Given the description of an element on the screen output the (x, y) to click on. 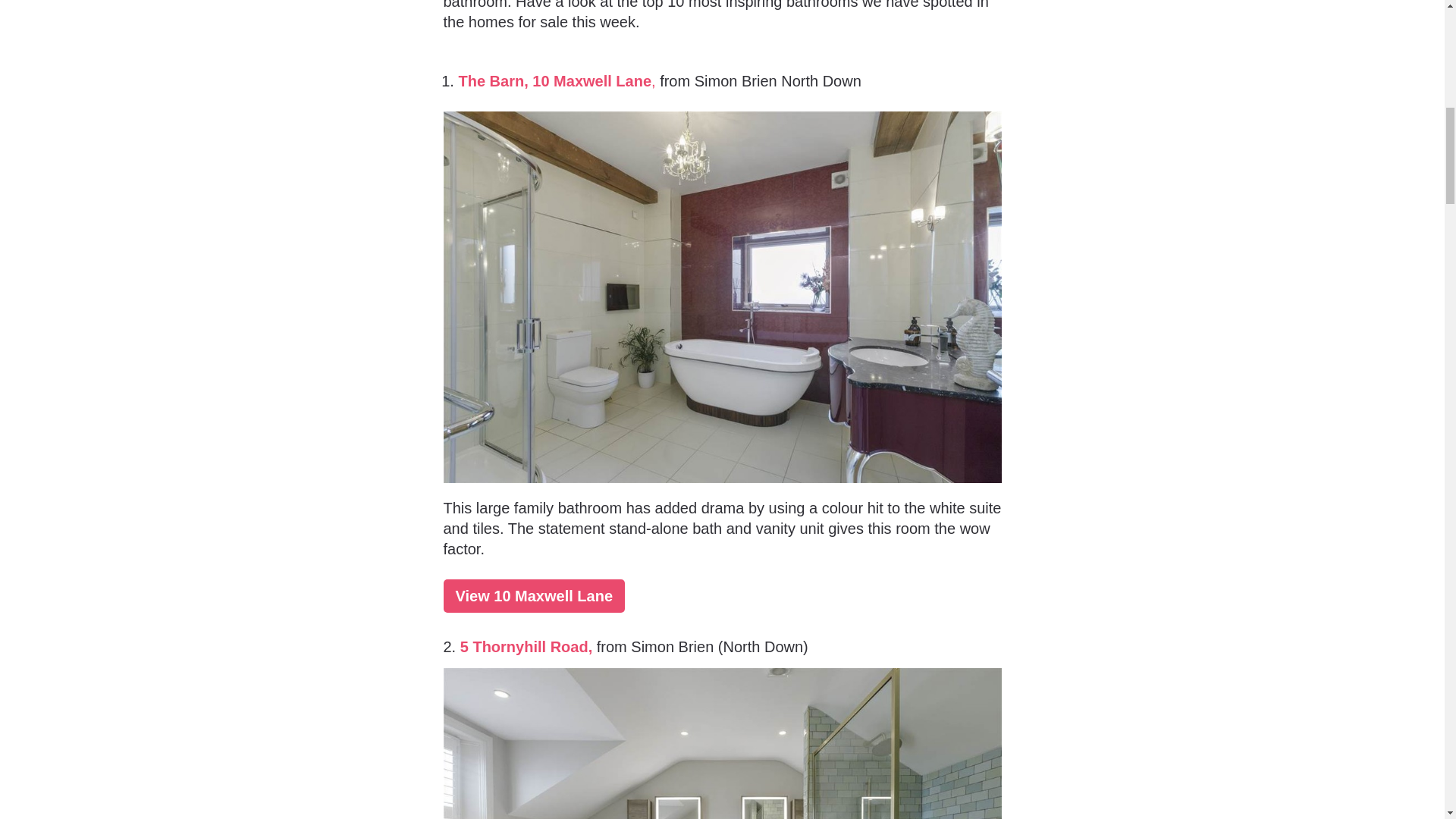
View 10 Maxwell Lane (533, 595)
5 Thornyhill Road, (526, 646)
The Barn, 10 Maxwell Lane, (556, 80)
